Given the description of an element on the screen output the (x, y) to click on. 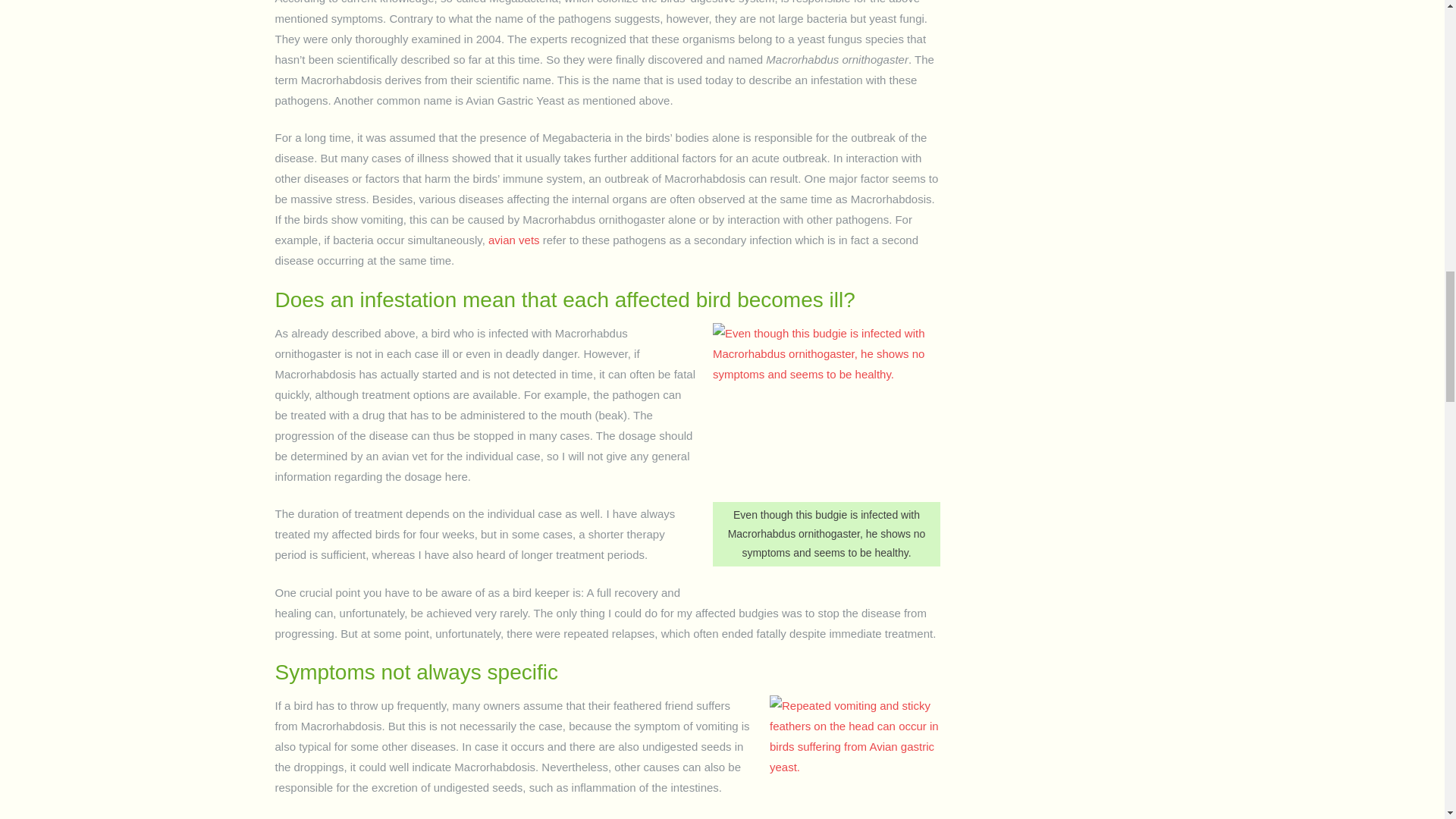
avian vets (513, 239)
